Given the description of an element on the screen output the (x, y) to click on. 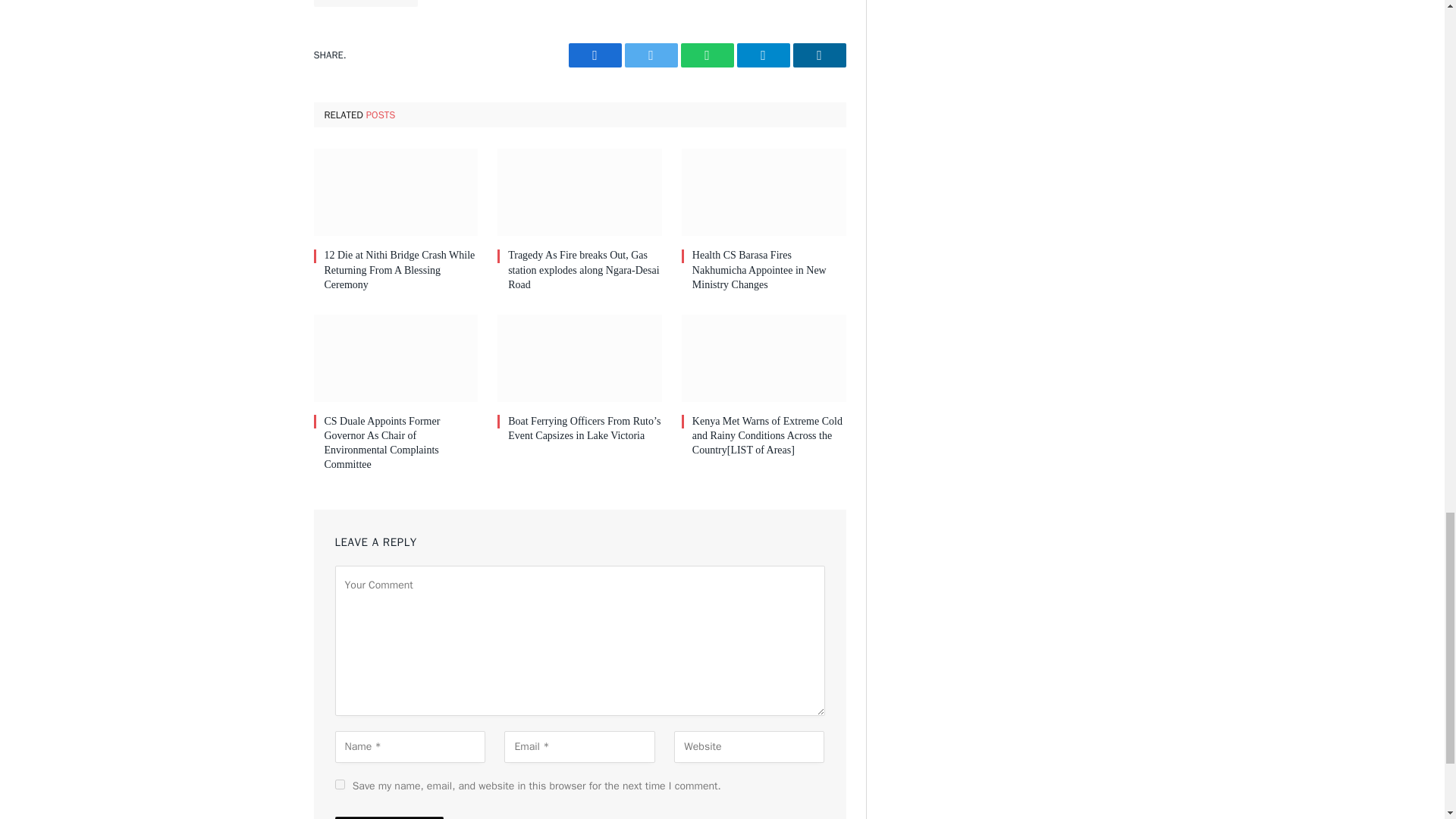
LinkedIn (819, 55)
Share on Twitter (651, 55)
yes (339, 784)
WhatsApp (707, 55)
Facebook (595, 55)
Telegram (763, 55)
Post Comment (389, 817)
Twitter (651, 55)
